Given the description of an element on the screen output the (x, y) to click on. 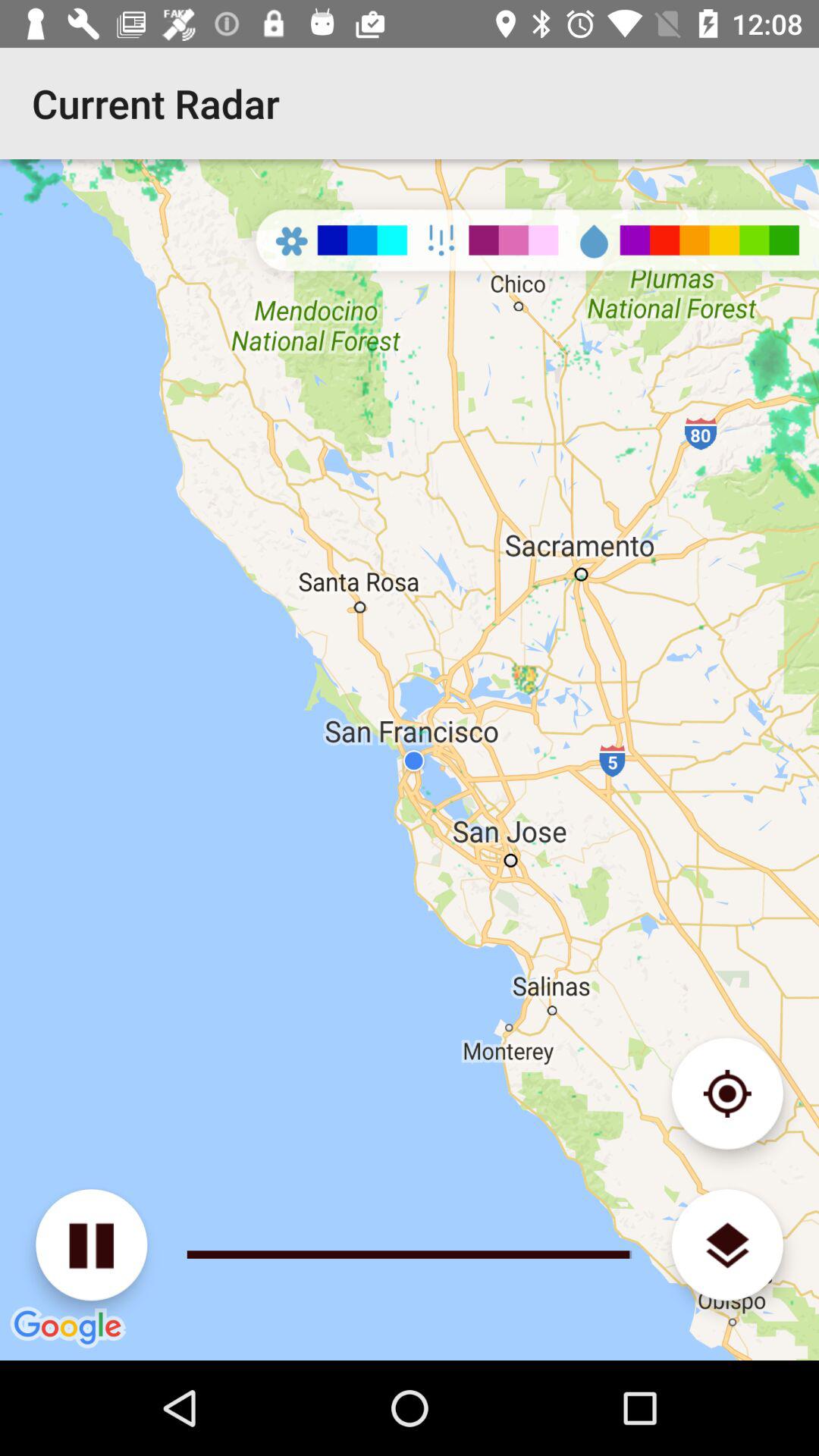
detailed mapping (727, 1093)
